Given the description of an element on the screen output the (x, y) to click on. 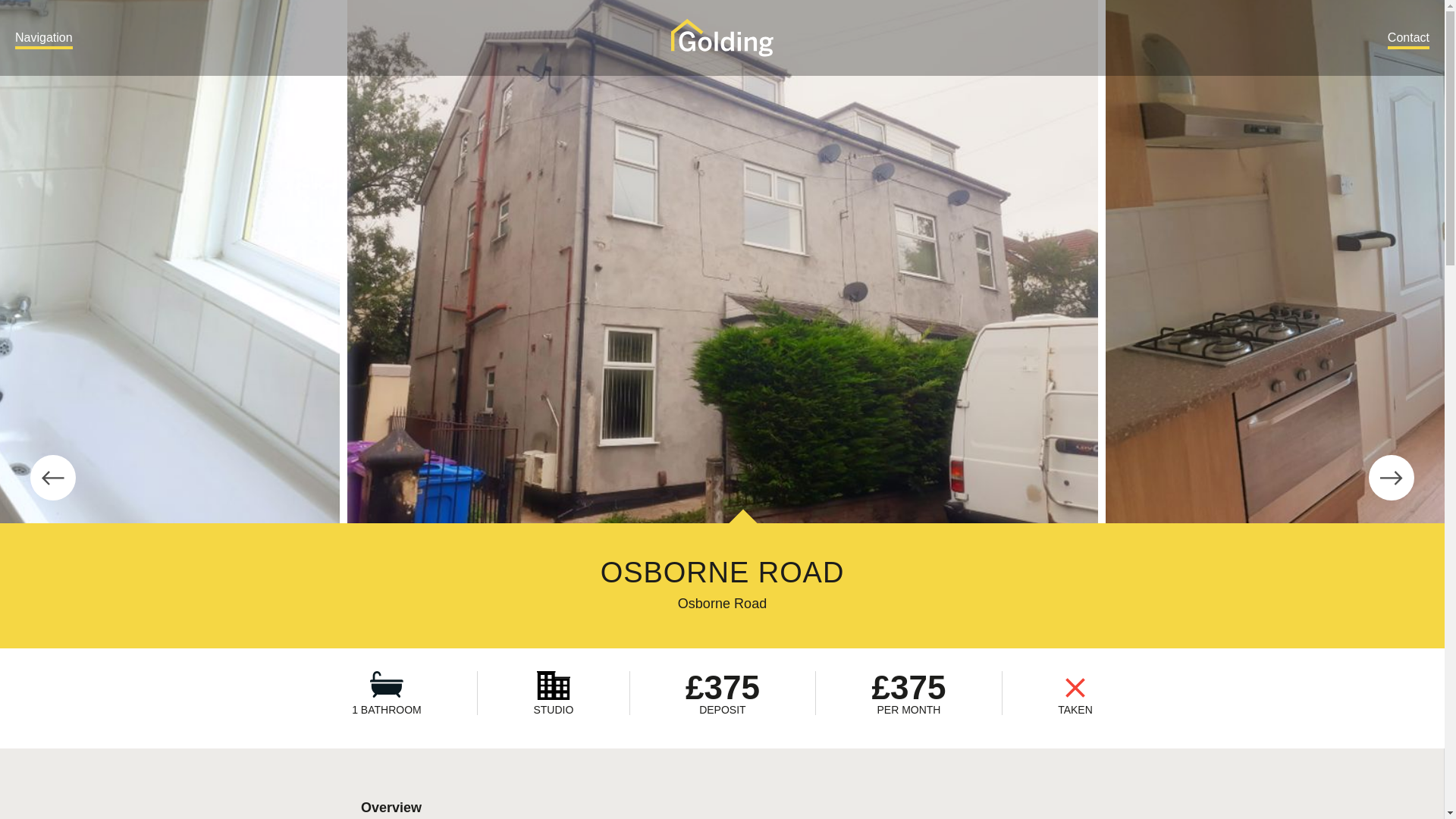
Golding Property Services (722, 37)
Next (1390, 477)
Navigation (43, 40)
Overview (391, 806)
Contact (1408, 40)
Golding Property Services (722, 37)
Previous (52, 477)
Navigation (43, 40)
Contact (1408, 40)
